Given the description of an element on the screen output the (x, y) to click on. 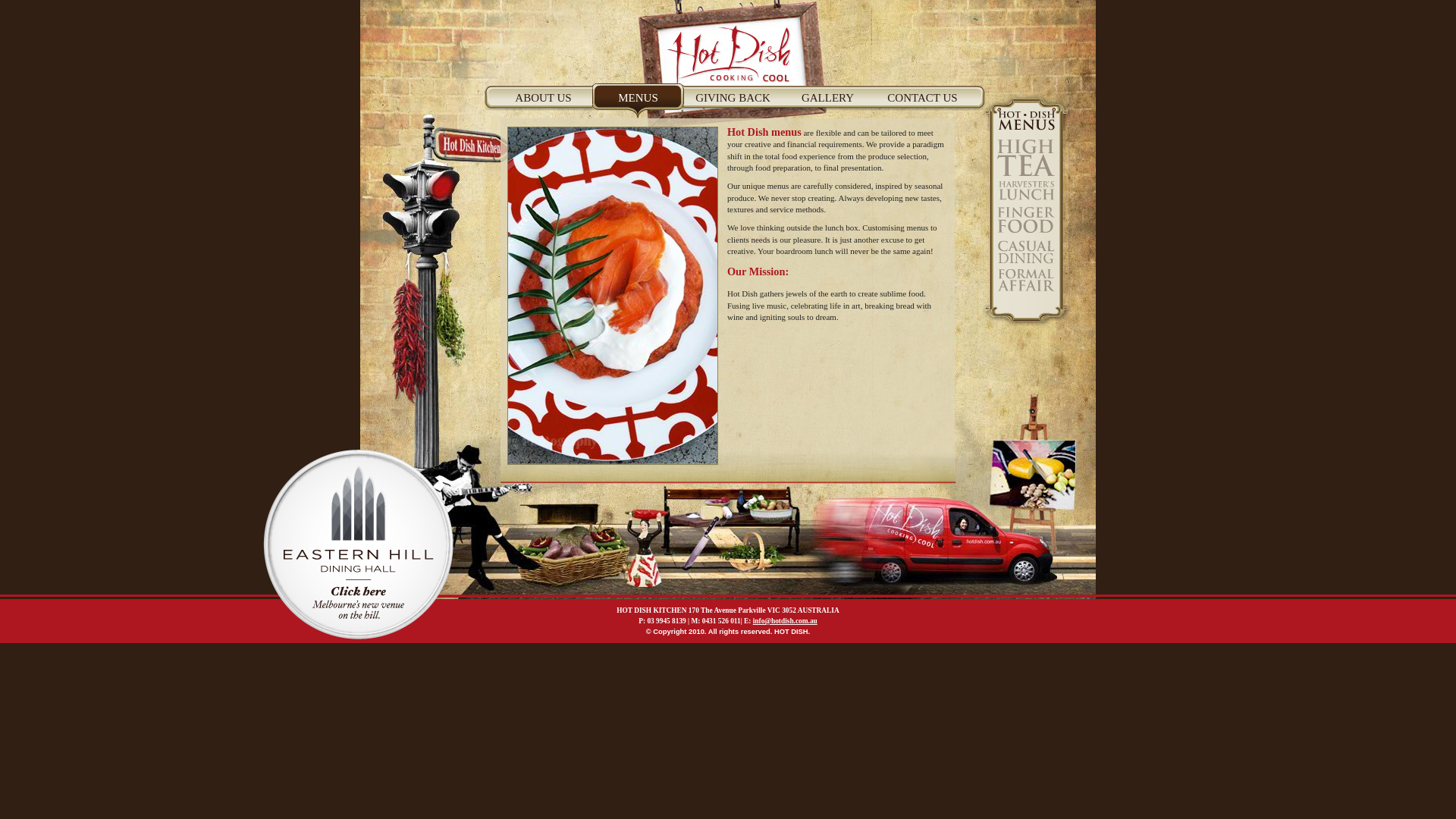
GALLERY Element type: text (827, 103)
MENUS Element type: text (637, 103)
ABOUT US Element type: text (542, 103)
GIVING BACK Element type: text (732, 103)
info@hotdish.com.au Element type: text (785, 620)
CONTACT US Element type: text (922, 103)
